Given the description of an element on the screen output the (x, y) to click on. 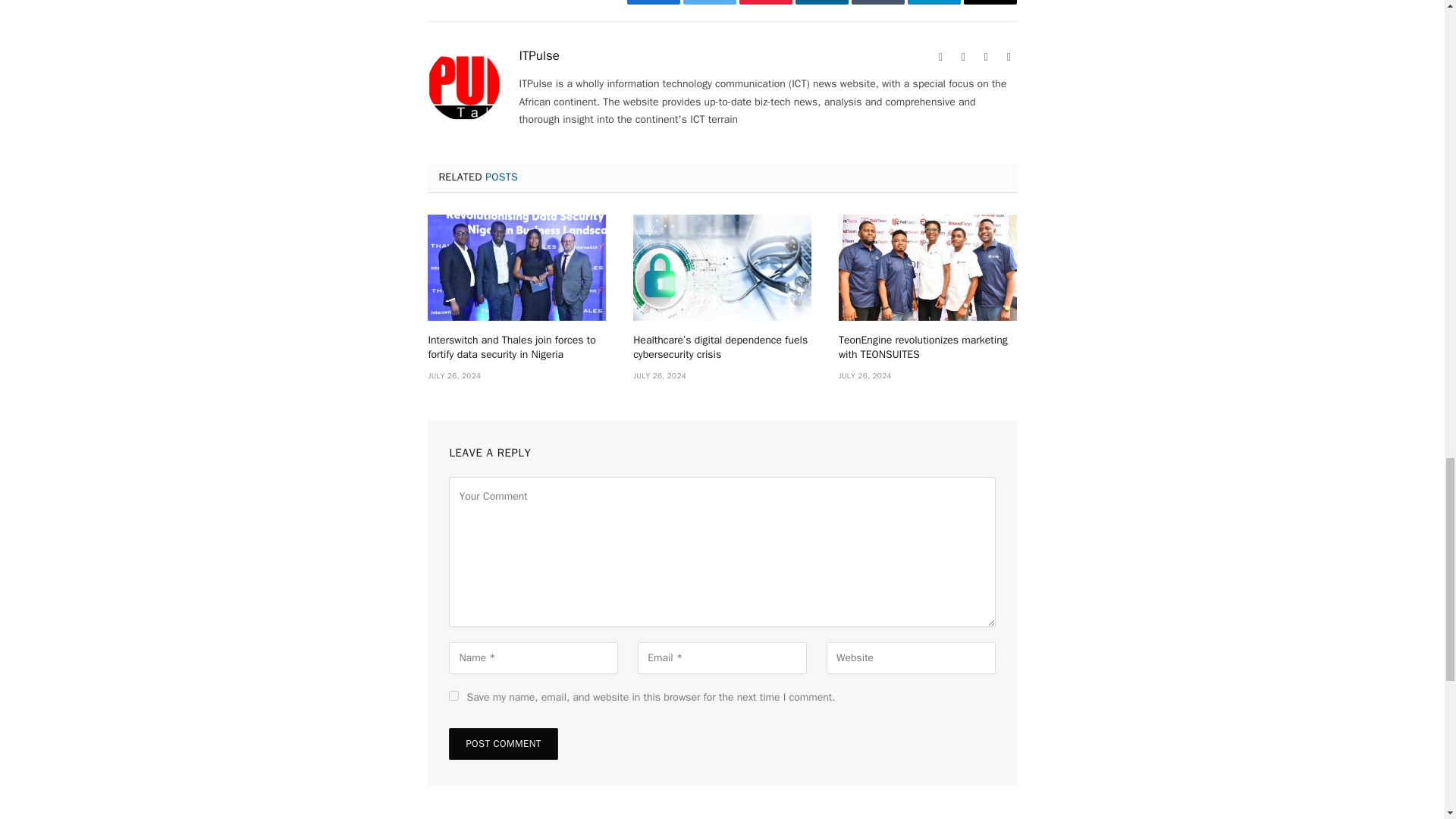
yes (453, 696)
Post Comment (502, 744)
